Given the description of an element on the screen output the (x, y) to click on. 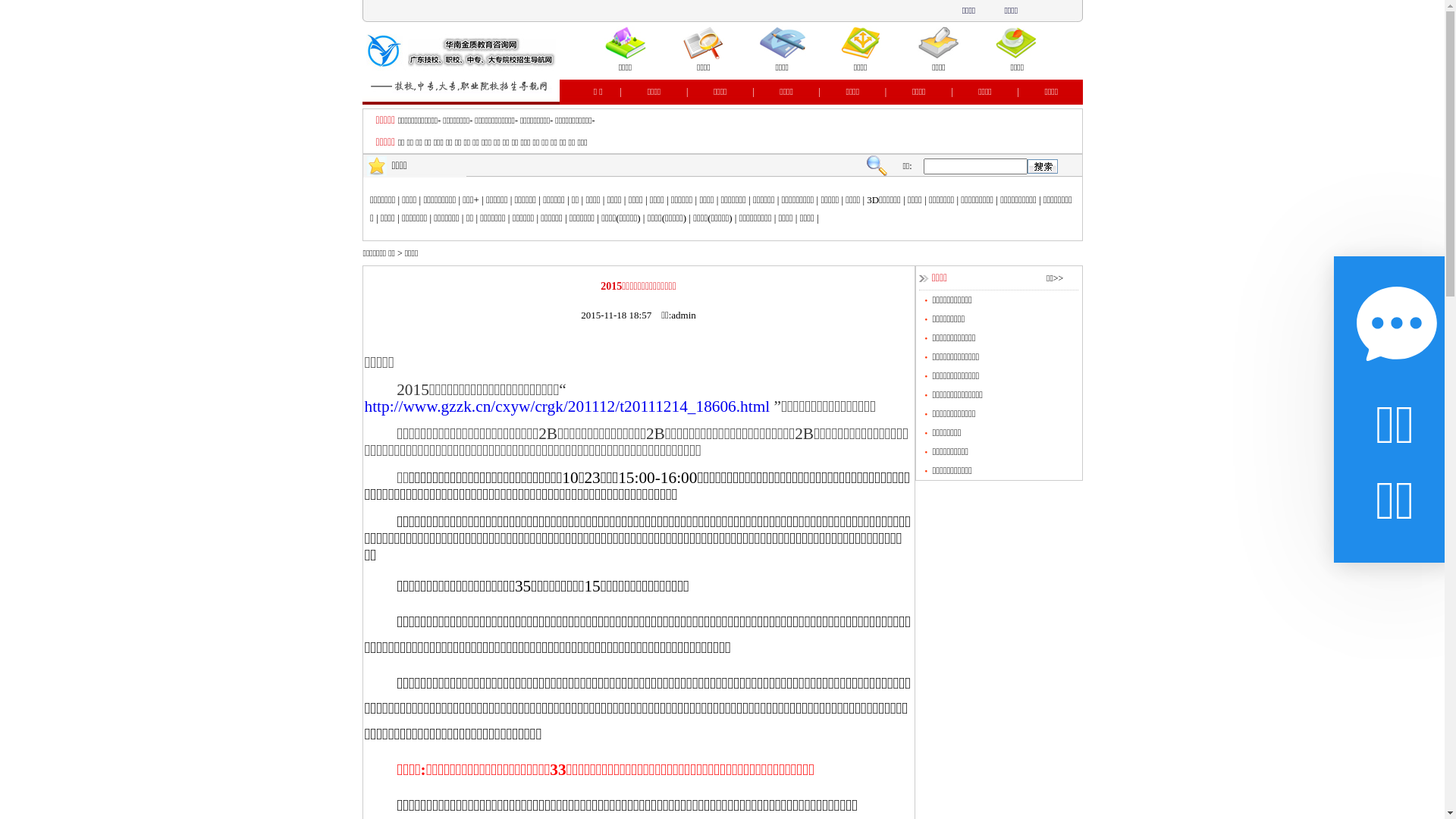
http://www.gzzk.cn/cxyw/crgk/201112/t20111214_18606.html Element type: text (566, 406)
